Given the description of an element on the screen output the (x, y) to click on. 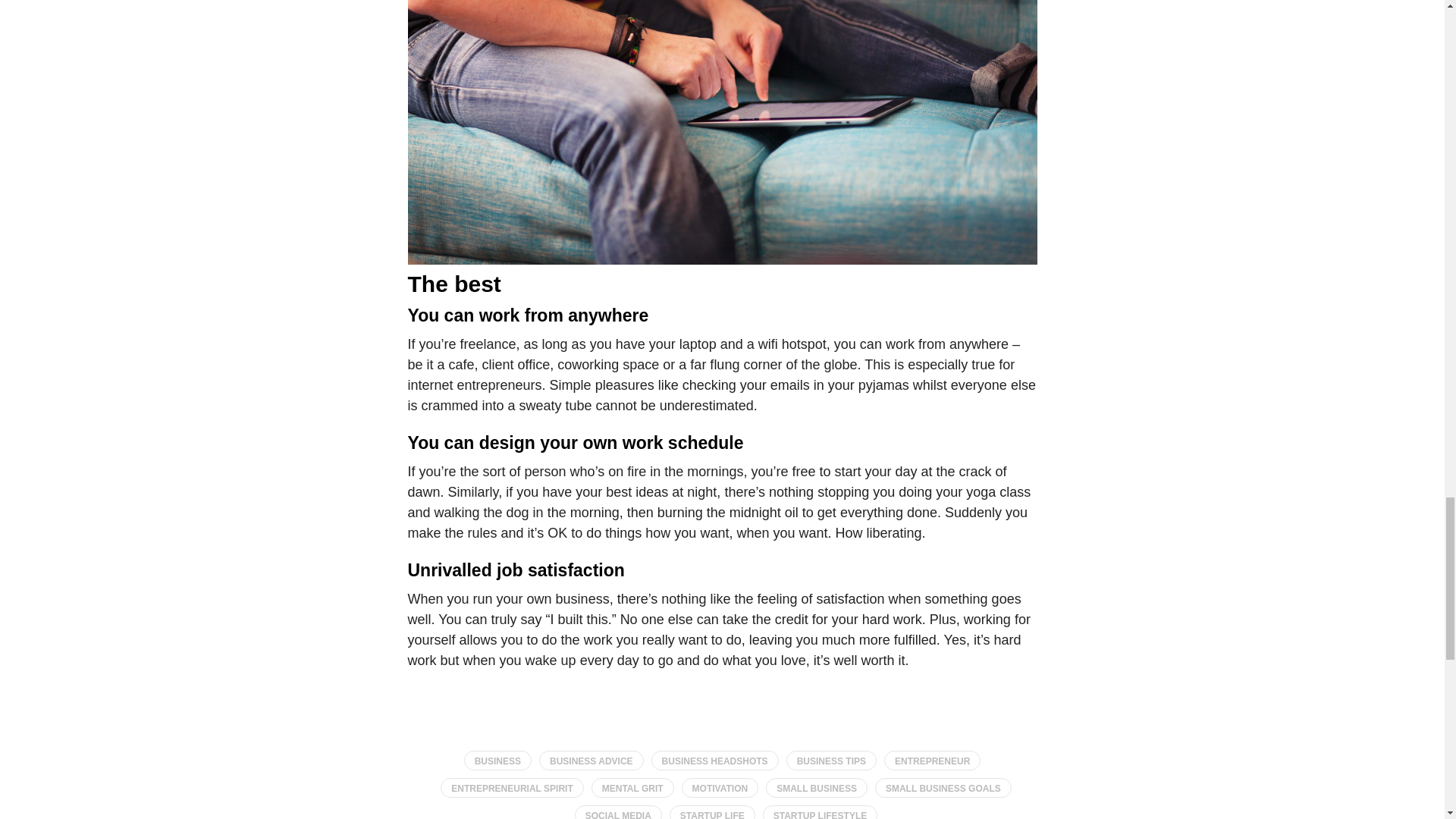
SMALL BUSINESS (816, 787)
ENTREPRENEURIAL SPIRIT (512, 787)
STARTUP LIFESTYLE (819, 812)
SOCIAL MEDIA (618, 812)
BUSINESS TIPS (831, 760)
BUSINESS HEADSHOTS (714, 760)
MENTAL GRIT (632, 787)
ENTREPRENEUR (931, 760)
STARTUP LIFE (712, 812)
SMALL BUSINESS GOALS (943, 787)
BUSINESS ADVICE (590, 760)
BUSINESS (497, 760)
MOTIVATION (719, 787)
